Given the description of an element on the screen output the (x, y) to click on. 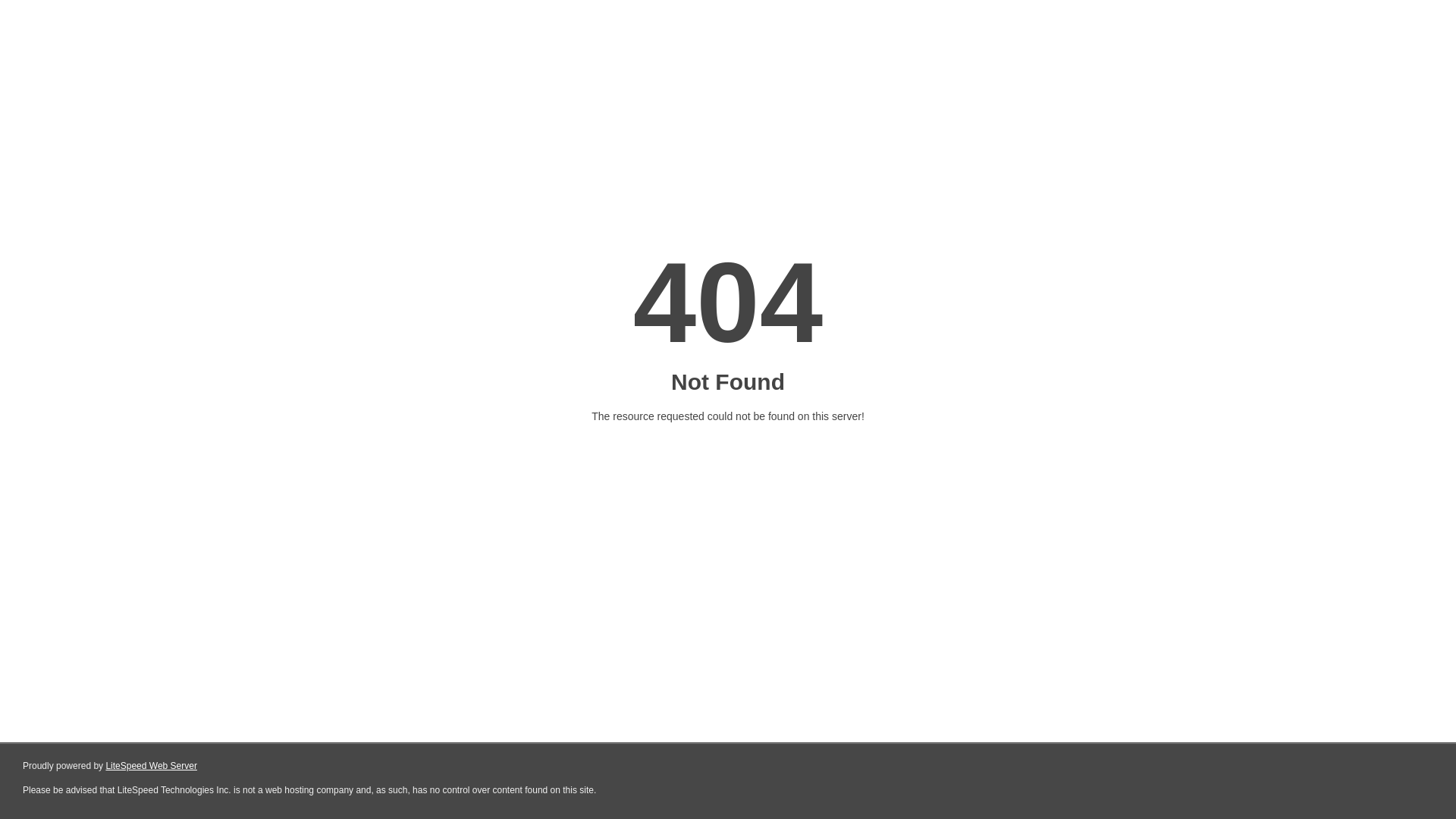
LiteSpeed Web Server Element type: text (151, 765)
